Given the description of an element on the screen output the (x, y) to click on. 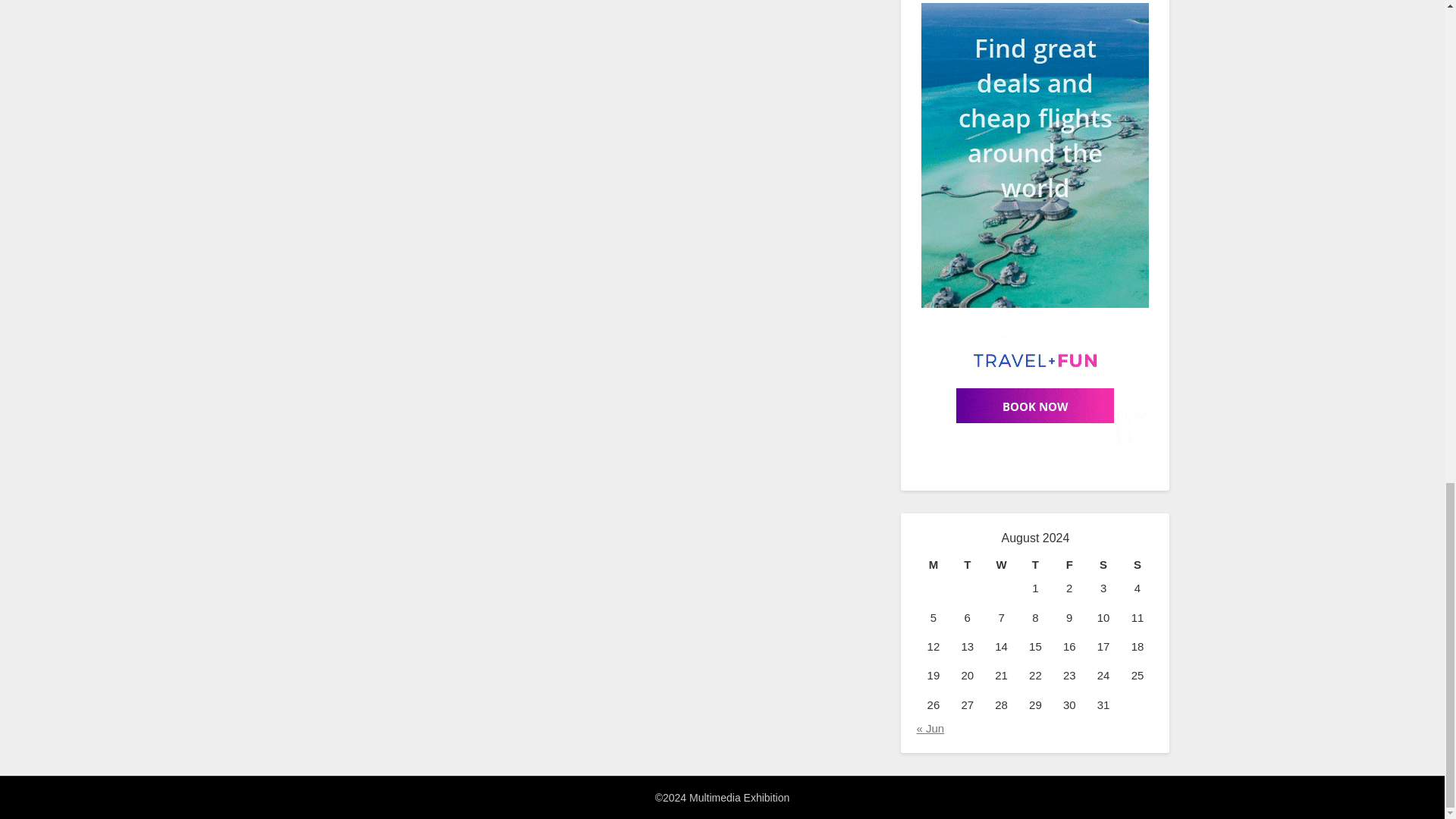
Thursday (1034, 565)
Sunday (1137, 565)
Saturday (1103, 565)
Friday (1069, 565)
Tuesday (967, 565)
Wednesday (1000, 565)
Monday (932, 565)
